Given the description of an element on the screen output the (x, y) to click on. 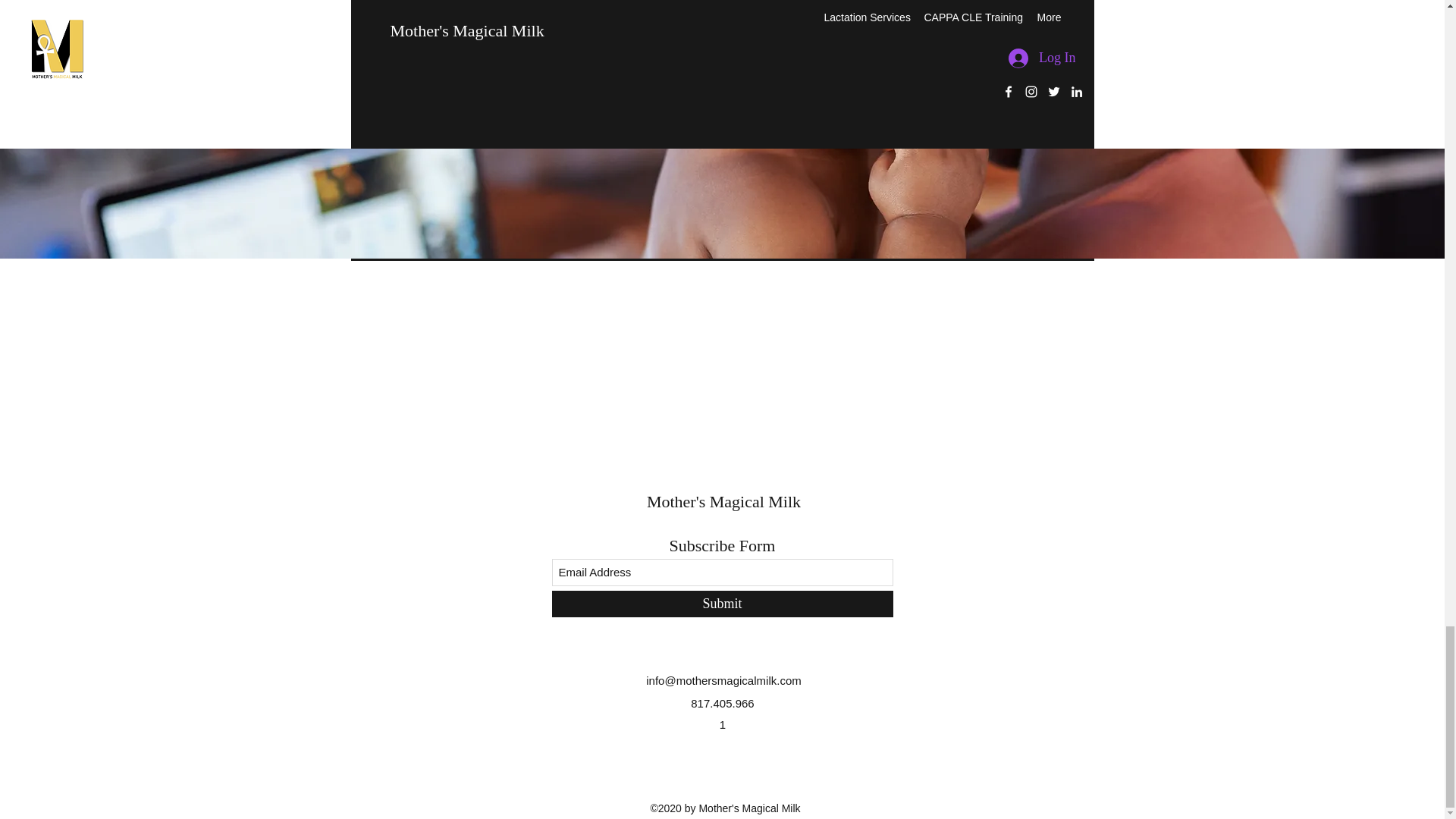
Submit (722, 603)
Mother's Magical Milk (723, 501)
